Given the description of an element on the screen output the (x, y) to click on. 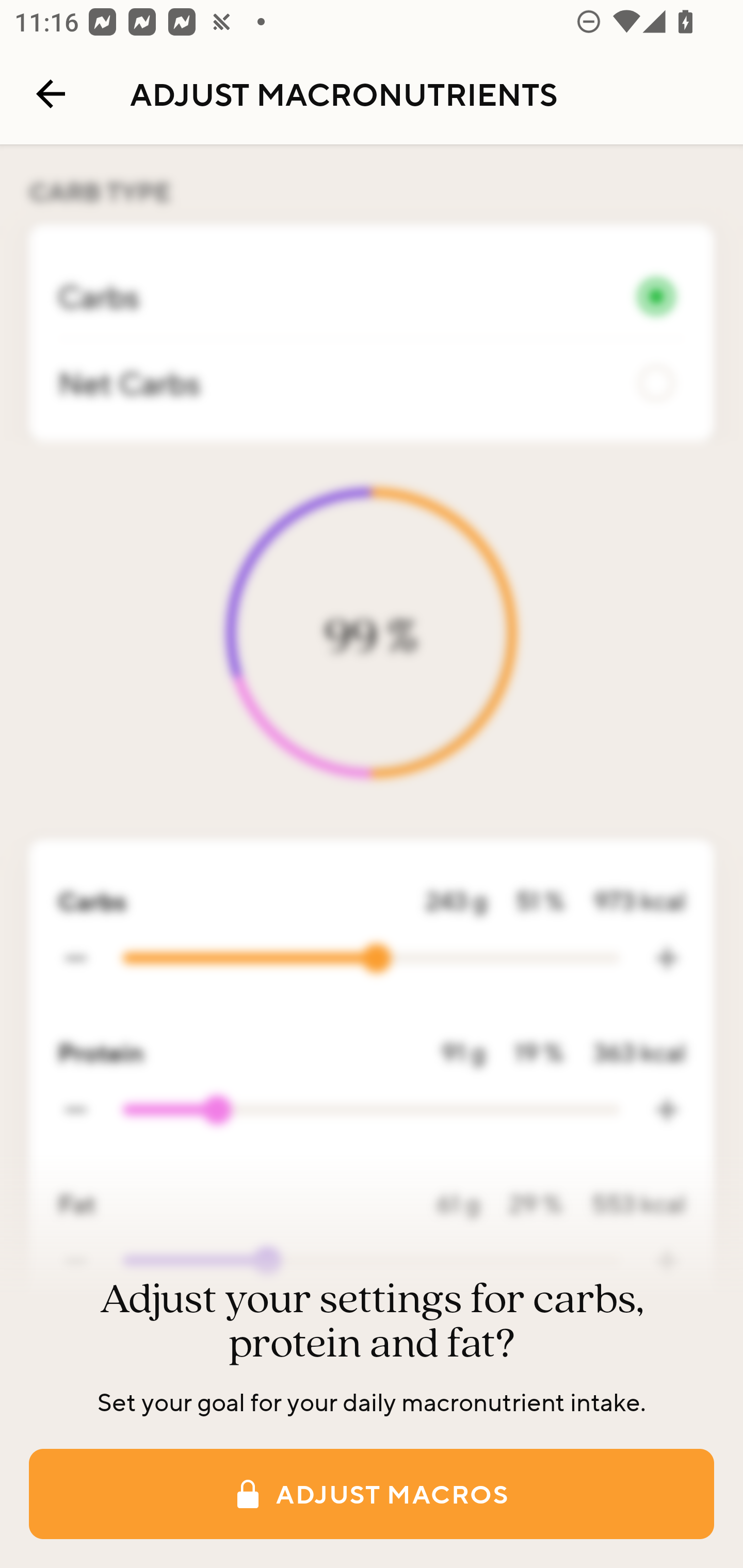
Navigate up (50, 93)
ADJUST MACROS (371, 1493)
